Given the description of an element on the screen output the (x, y) to click on. 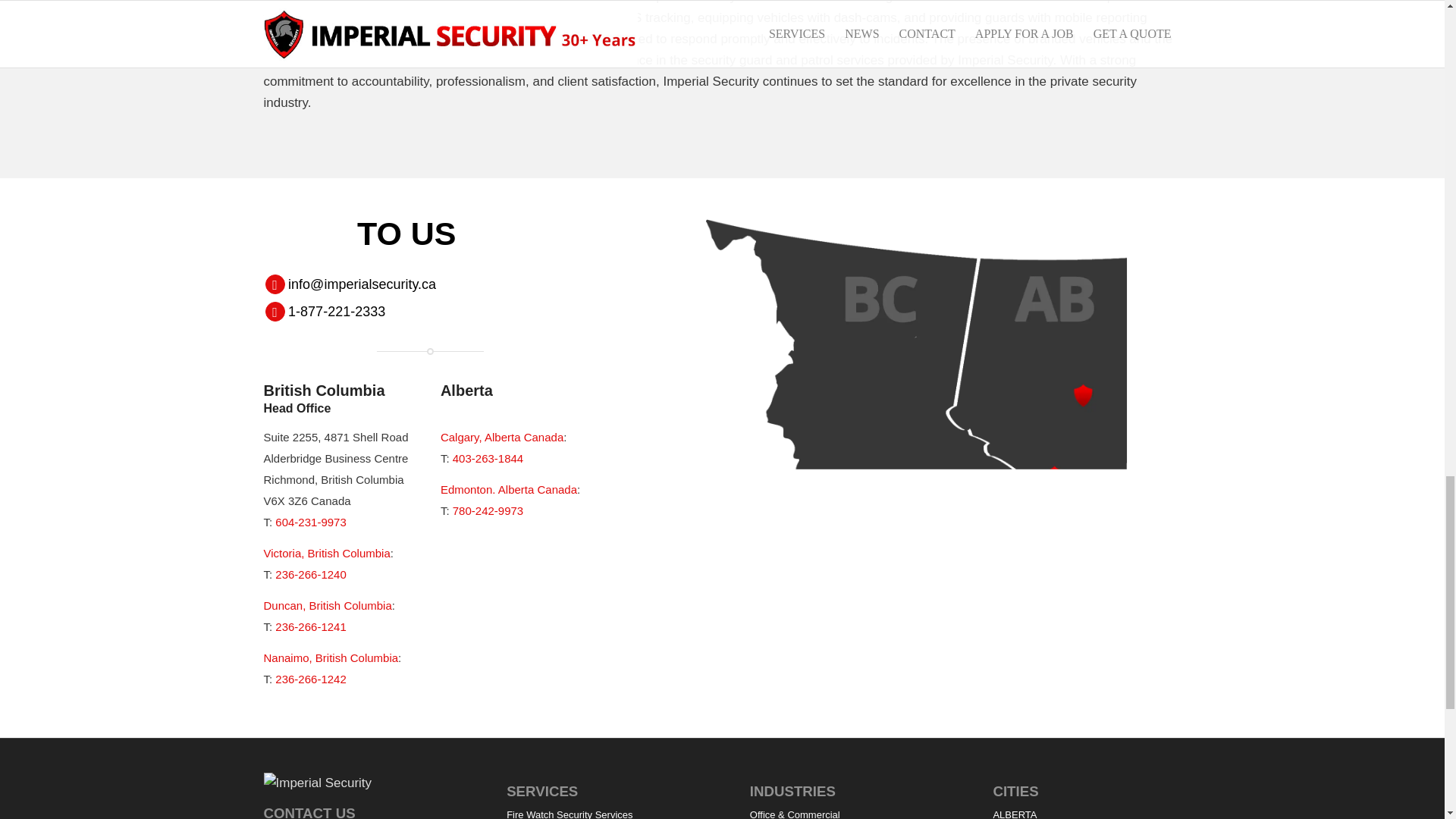
236-266-1240 (310, 574)
403-263-1844 (487, 458)
604-231-9973 (310, 521)
1-877-221-2333 (336, 311)
Duncan, British Columbia (327, 604)
Calgary, Alberta Canada (502, 436)
780-242-9973 (487, 510)
1-877-221-2333 (336, 311)
Imperial Security (346, 783)
